Given the description of an element on the screen output the (x, y) to click on. 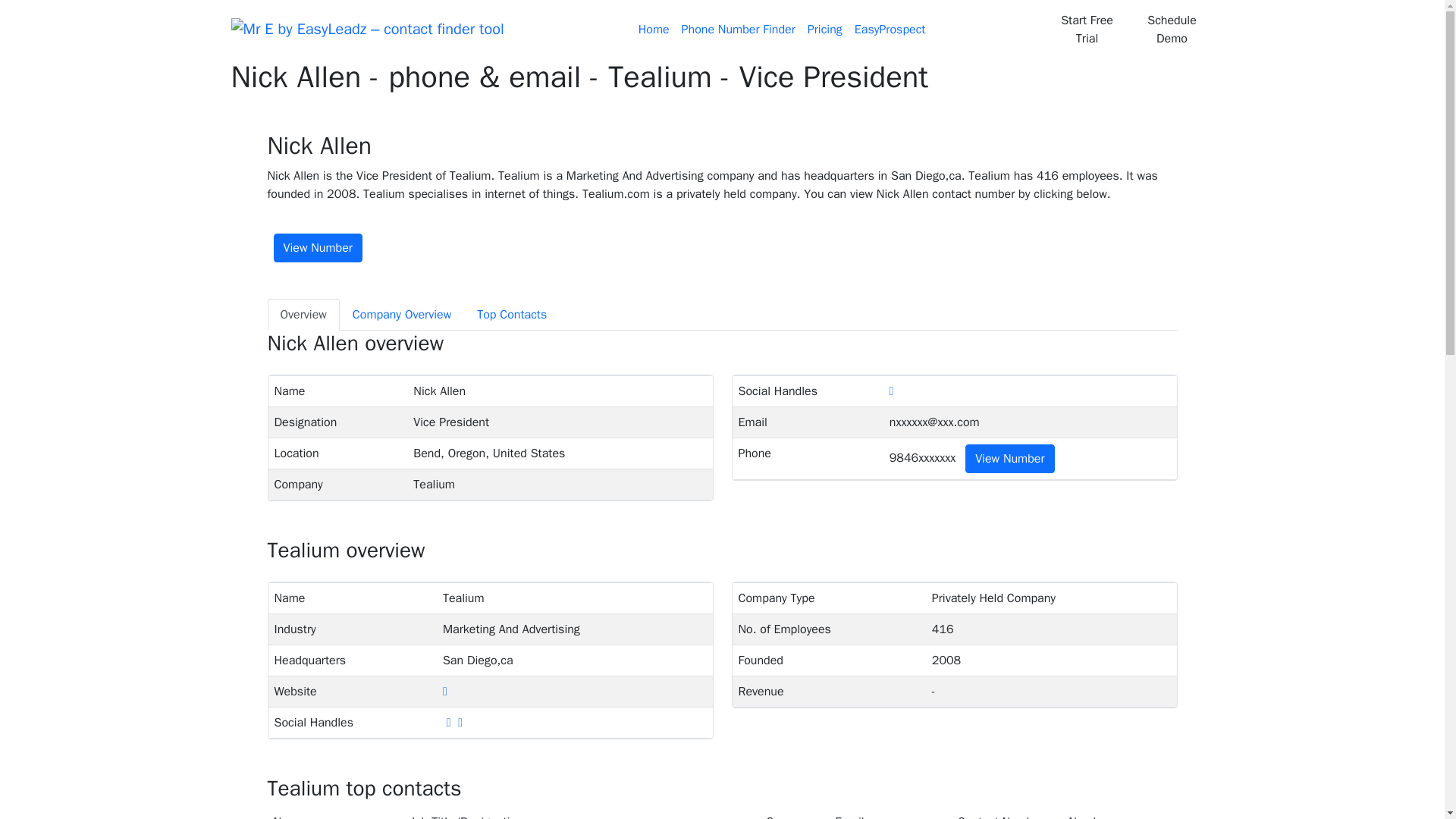
Schedule Demo (1172, 29)
Pricing (825, 29)
Home (653, 29)
EasyProspect (889, 29)
EasyProspect (889, 29)
Phone Number Finder (738, 29)
View Number (317, 247)
Top Contacts (511, 314)
Company Overview (401, 314)
Phone Number Finder (738, 29)
Start Free Trial (1085, 29)
Home (653, 29)
View Number (1009, 458)
Pricing (825, 29)
Overview (302, 314)
